Given the description of an element on the screen output the (x, y) to click on. 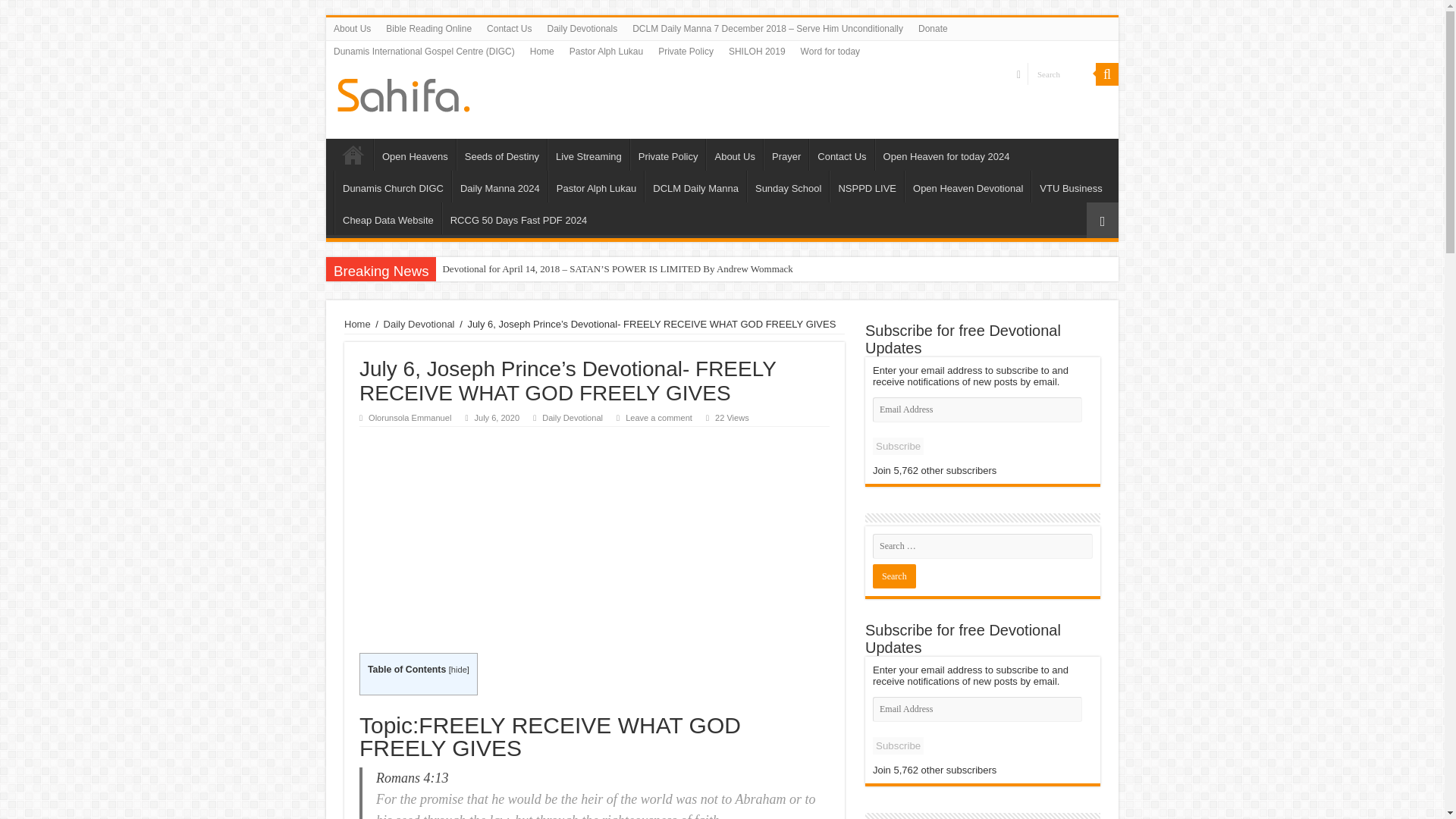
Private Policy (685, 51)
Open Heavens (414, 154)
Search (1061, 74)
Word for today (830, 51)
Search (893, 576)
Home (542, 51)
Daily Inspirational devotionals (403, 92)
Bible Reading Online (428, 28)
Donate (933, 28)
About Us (352, 28)
SHILOH 2019 (756, 51)
Contact Us (508, 28)
Search (1107, 74)
Search (1061, 74)
Seeds of Destiny (502, 154)
